Given the description of an element on the screen output the (x, y) to click on. 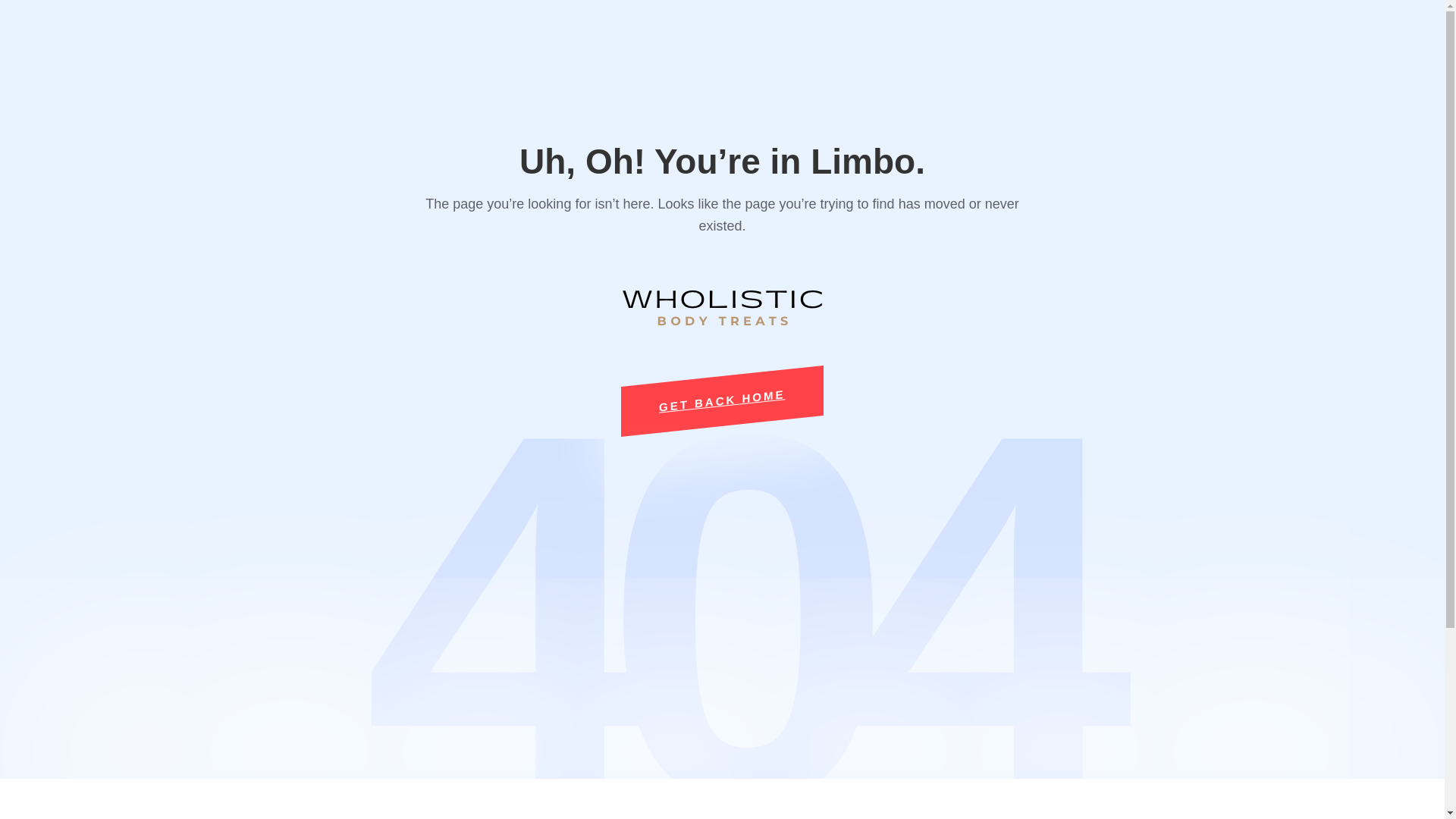
Wholistic Body Treats Logo (722, 305)
GET BACK HOME (722, 390)
